Given the description of an element on the screen output the (x, y) to click on. 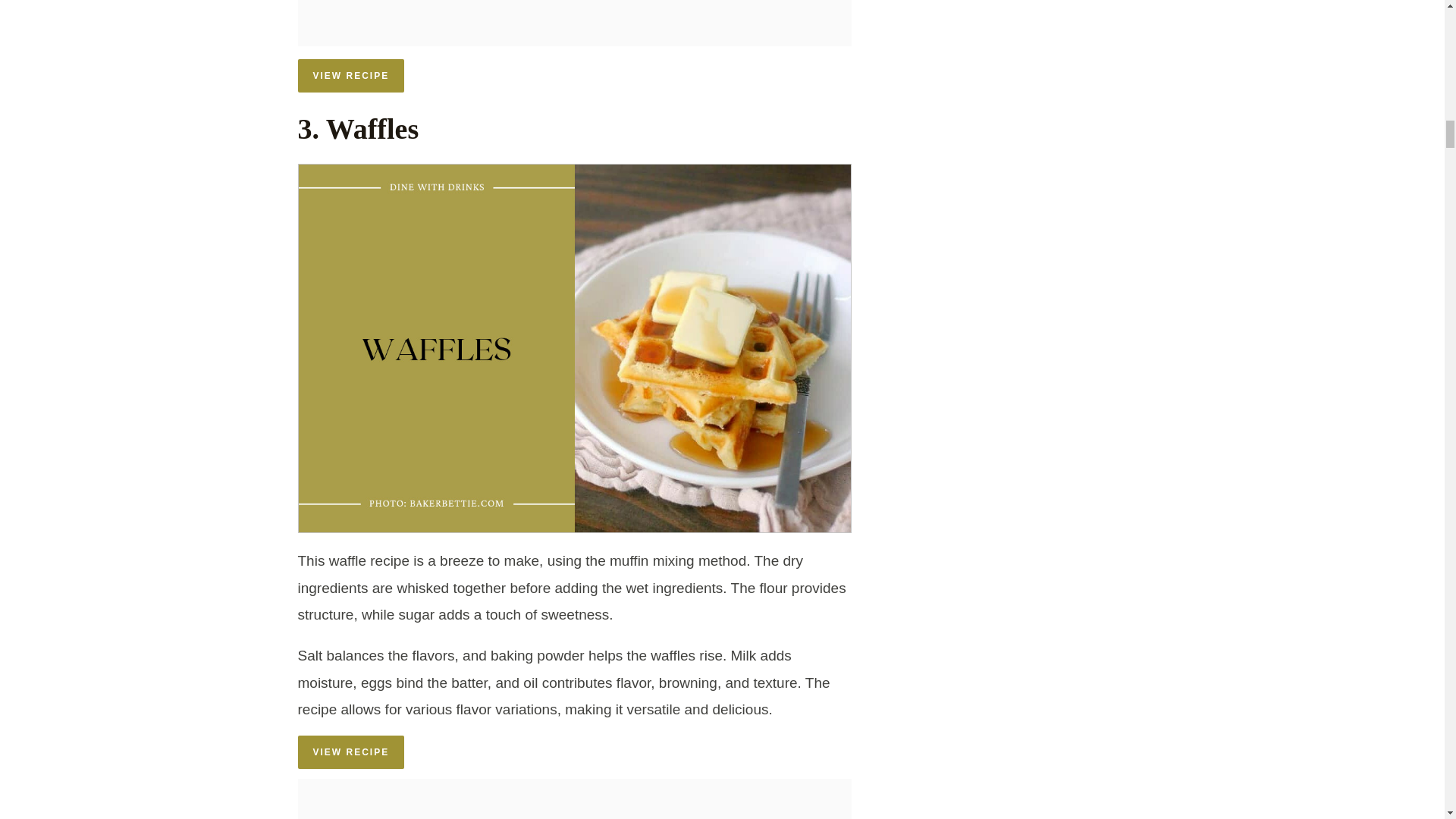
VIEW RECIPE (350, 75)
VIEW RECIPE (350, 752)
